Given the description of an element on the screen output the (x, y) to click on. 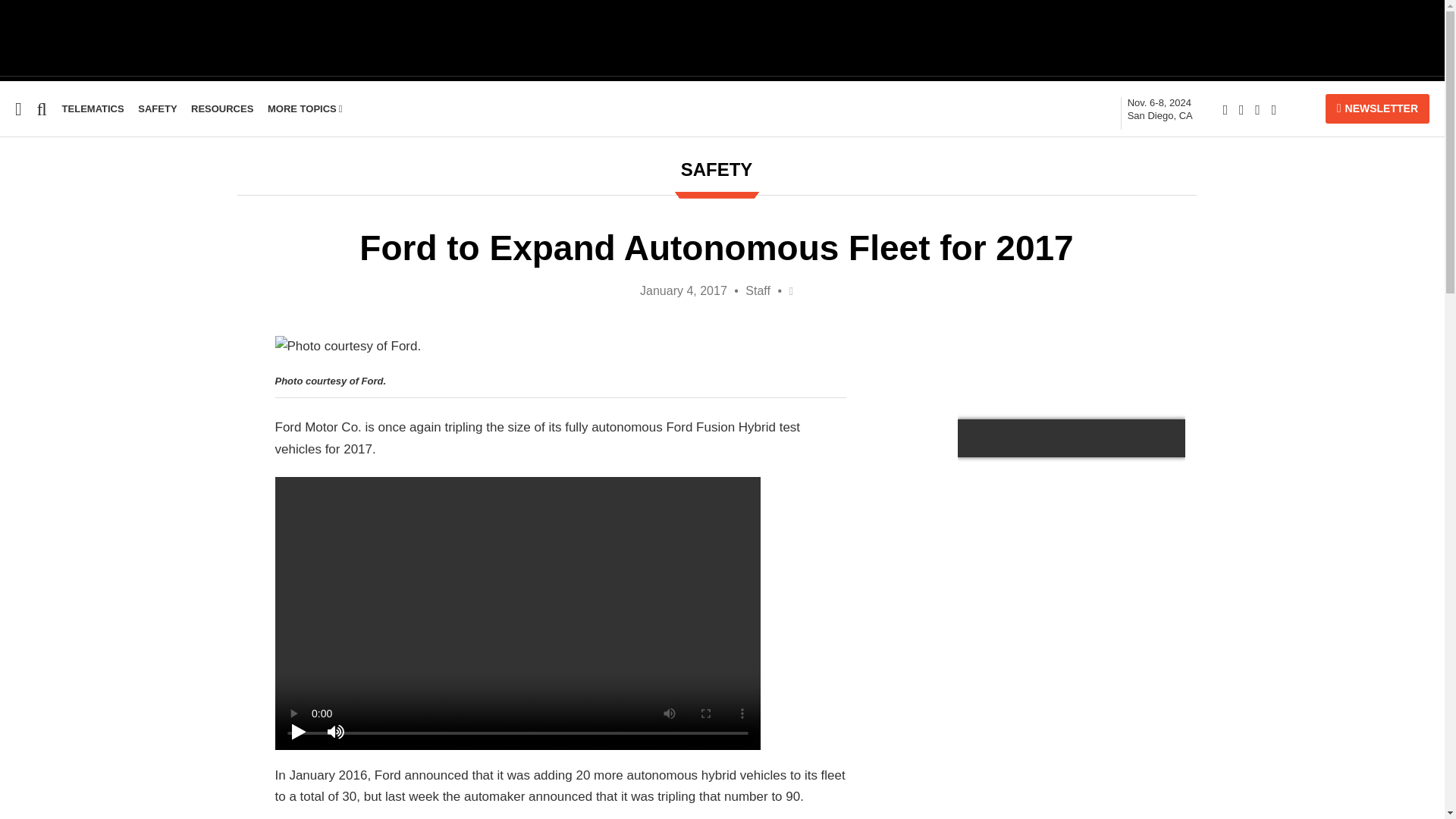
SAFETY (157, 108)
TELEMATICS (92, 108)
Telematics (1159, 109)
Safety (92, 108)
Fuel (17, 236)
Home (11, 264)
Fuel (16, 206)
Safety (11, 264)
Home (157, 108)
